Given the description of an element on the screen output the (x, y) to click on. 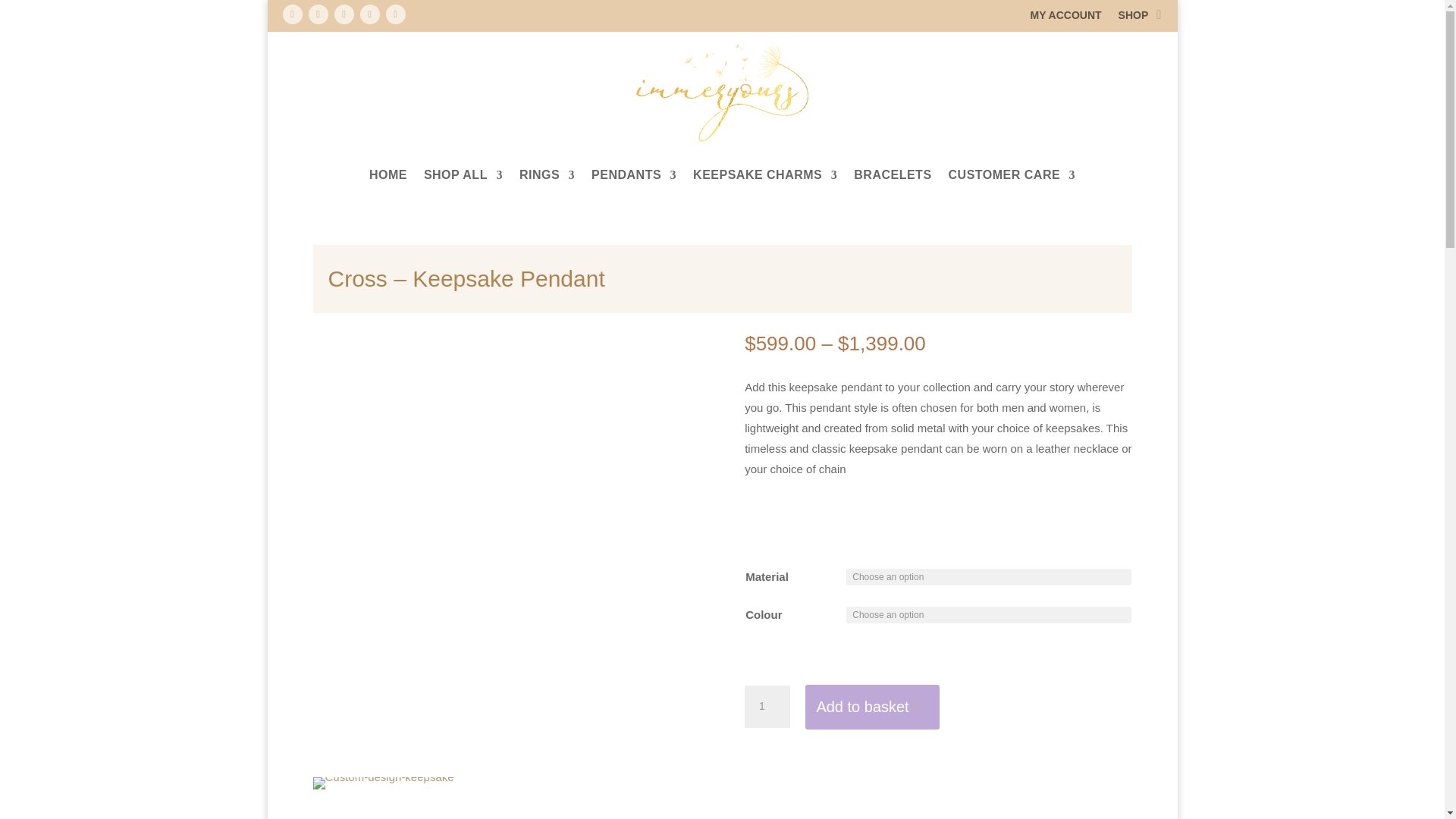
My account (1064, 17)
MY ACCOUNT (1064, 17)
Follow on Youtube (394, 14)
Follow on LinkedIn (368, 14)
Follow on Pinterest (343, 14)
RINGS (547, 174)
Follow on Instagram (317, 14)
SHOP (1133, 17)
Follow on Facebook (291, 14)
SHOP ALL (462, 174)
